Given the description of an element on the screen output the (x, y) to click on. 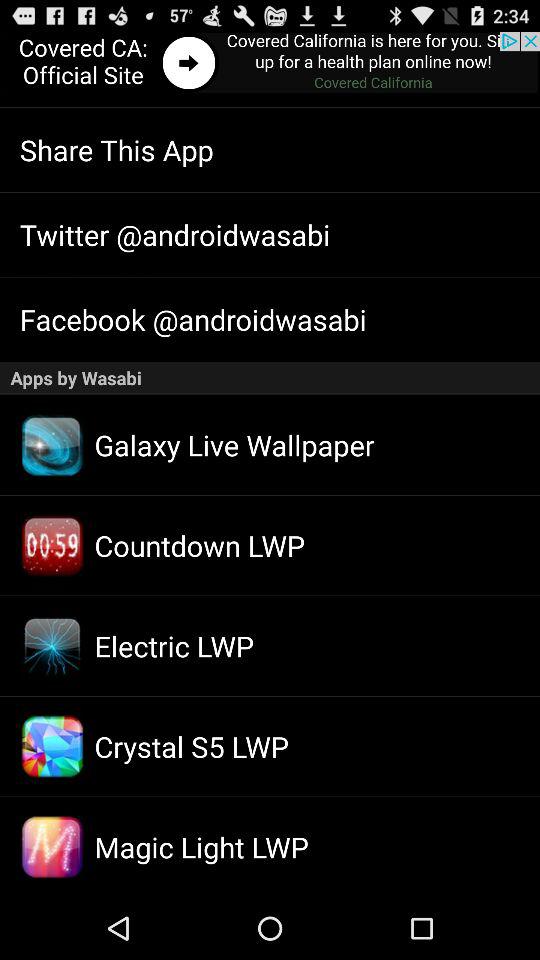
view advertisements (270, 64)
